Given the description of an element on the screen output the (x, y) to click on. 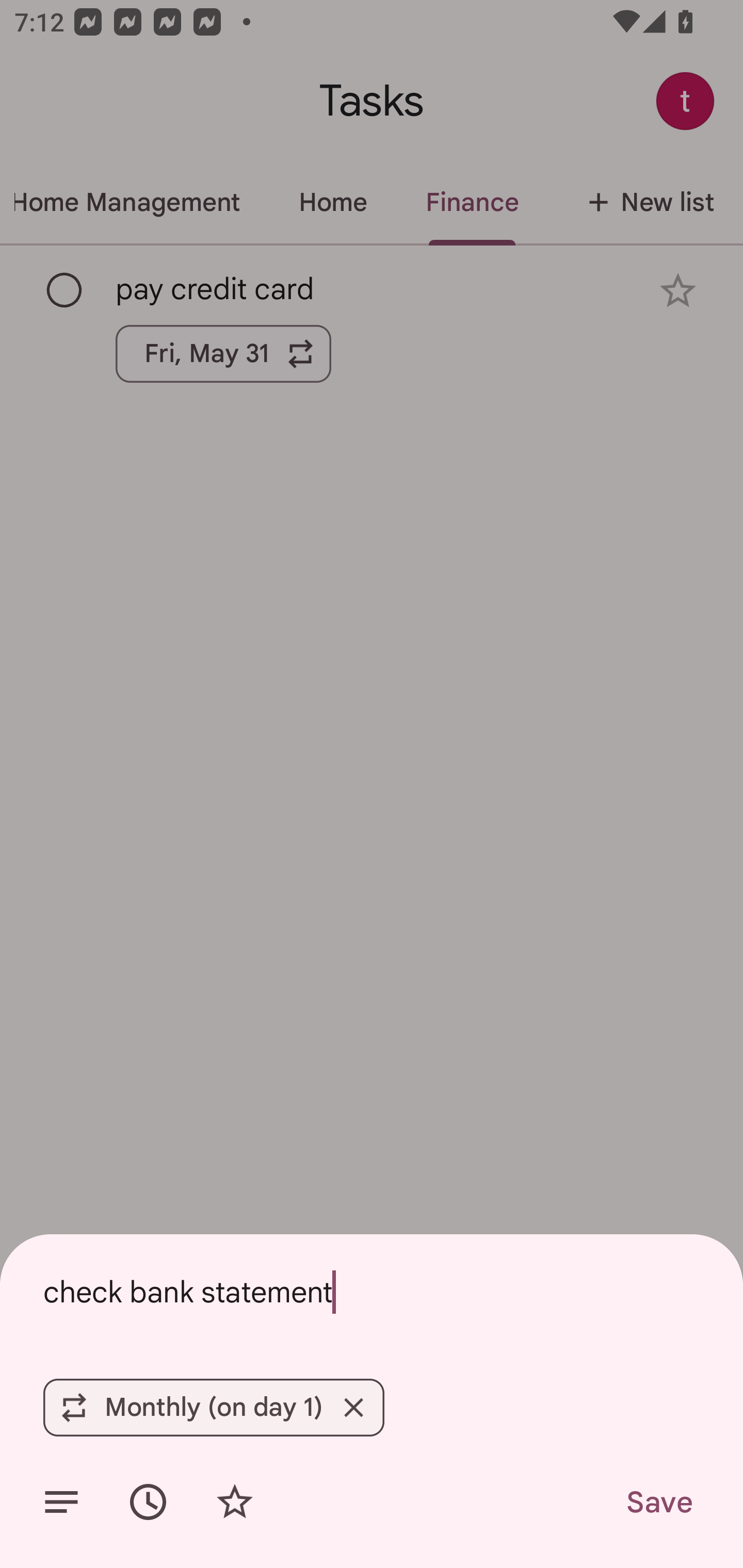
check bank statement (371, 1291)
Monthly (on day 1) Remove Monthly (on day 1) (213, 1407)
Save (659, 1501)
Add details (60, 1501)
Set date/time (147, 1501)
Add star (234, 1501)
